Given the description of an element on the screen output the (x, y) to click on. 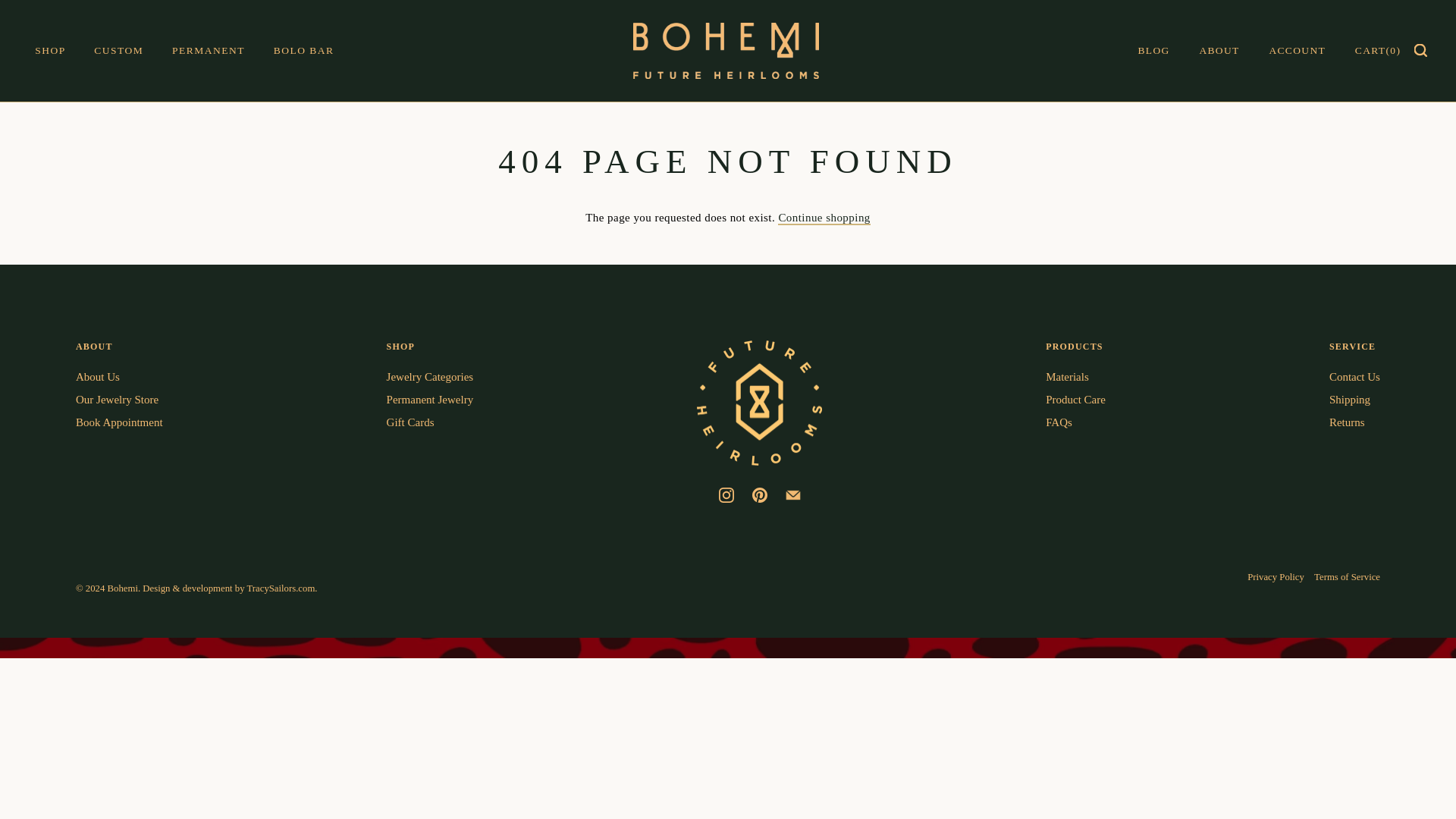
BLOG (1166, 50)
Pinterest (759, 494)
ACCOUNT (1310, 50)
Instagram (726, 494)
CUSTOM (118, 50)
SHOP (50, 50)
ABOUT (1231, 50)
PERMANENT (208, 50)
BOLO BAR (303, 50)
